Given the description of an element on the screen output the (x, y) to click on. 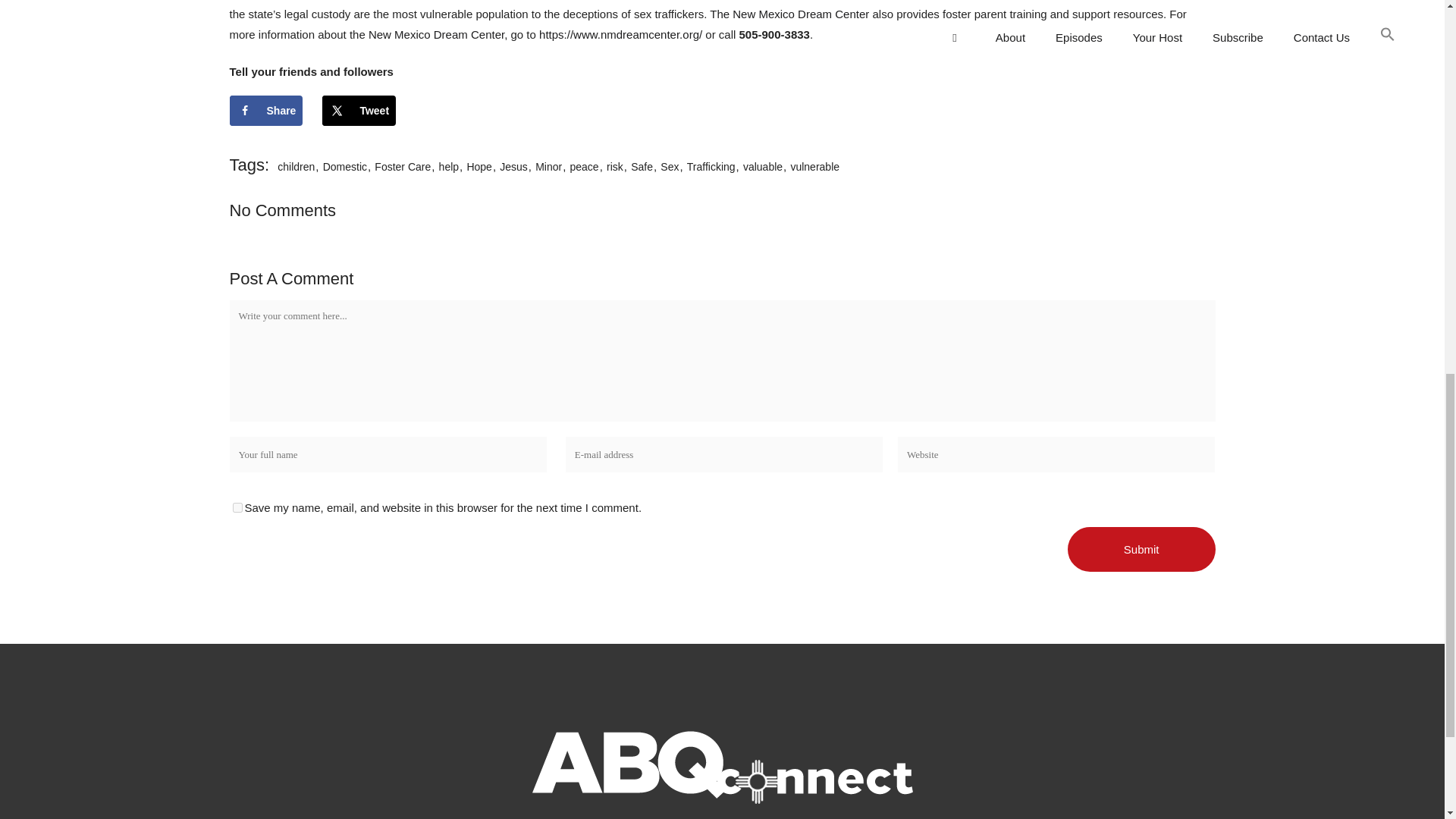
Minor (548, 166)
Hope (478, 166)
Share (265, 110)
Submit (1141, 549)
children (295, 166)
New Mexico Dream Center (435, 33)
The New Mexico Dream Center (789, 13)
Foster Care (402, 166)
yes (236, 507)
Share on Facebook (265, 110)
